Given the description of an element on the screen output the (x, y) to click on. 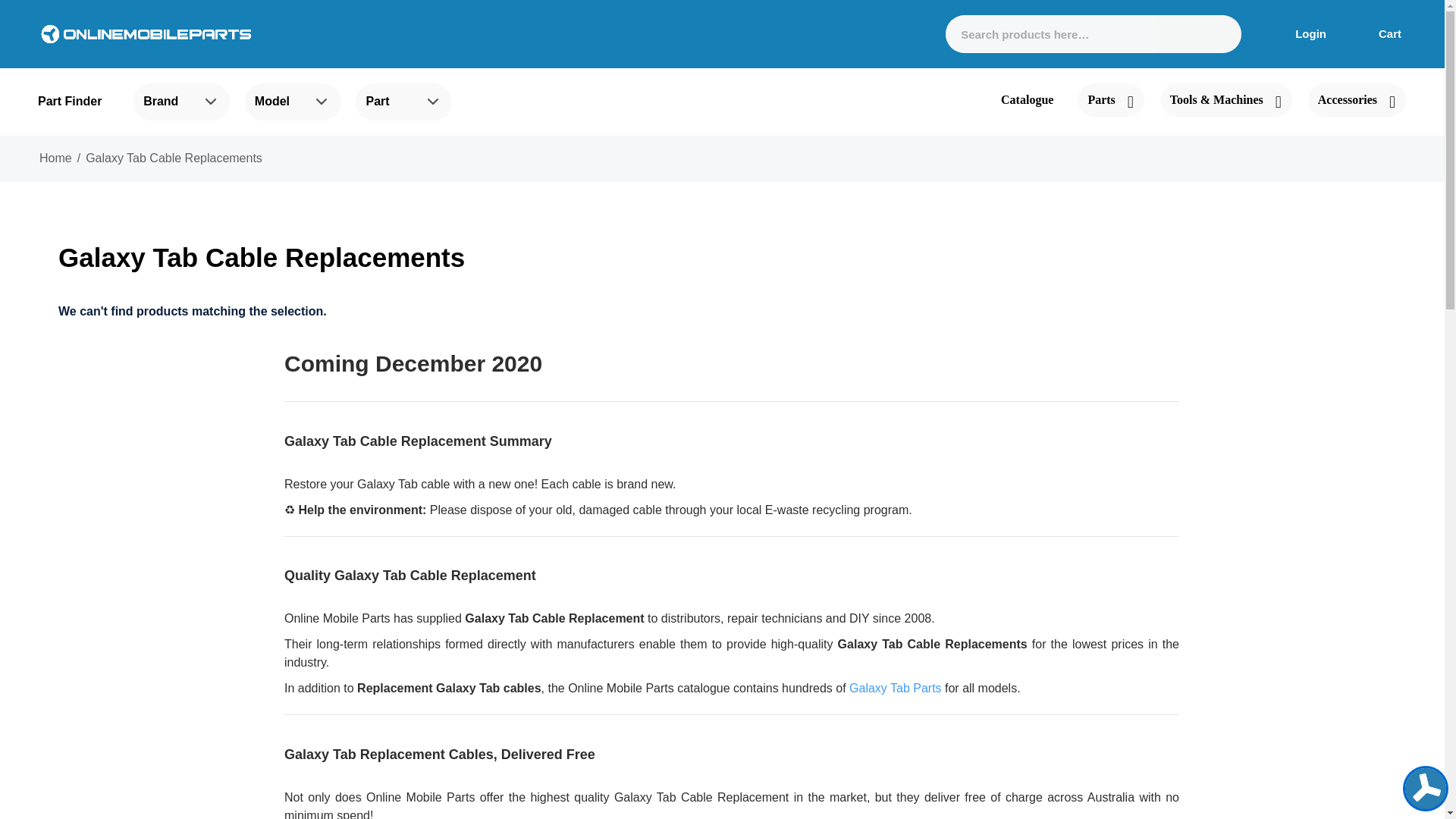
Search (1216, 34)
Parts (1109, 100)
Login (1299, 33)
Cart (1380, 33)
Go to Home Page (55, 157)
My Account (1299, 33)
Catalogue (1026, 99)
Online Mobile Parts Logo (146, 33)
Galaxy Tab Parts (895, 687)
